Given the description of an element on the screen output the (x, y) to click on. 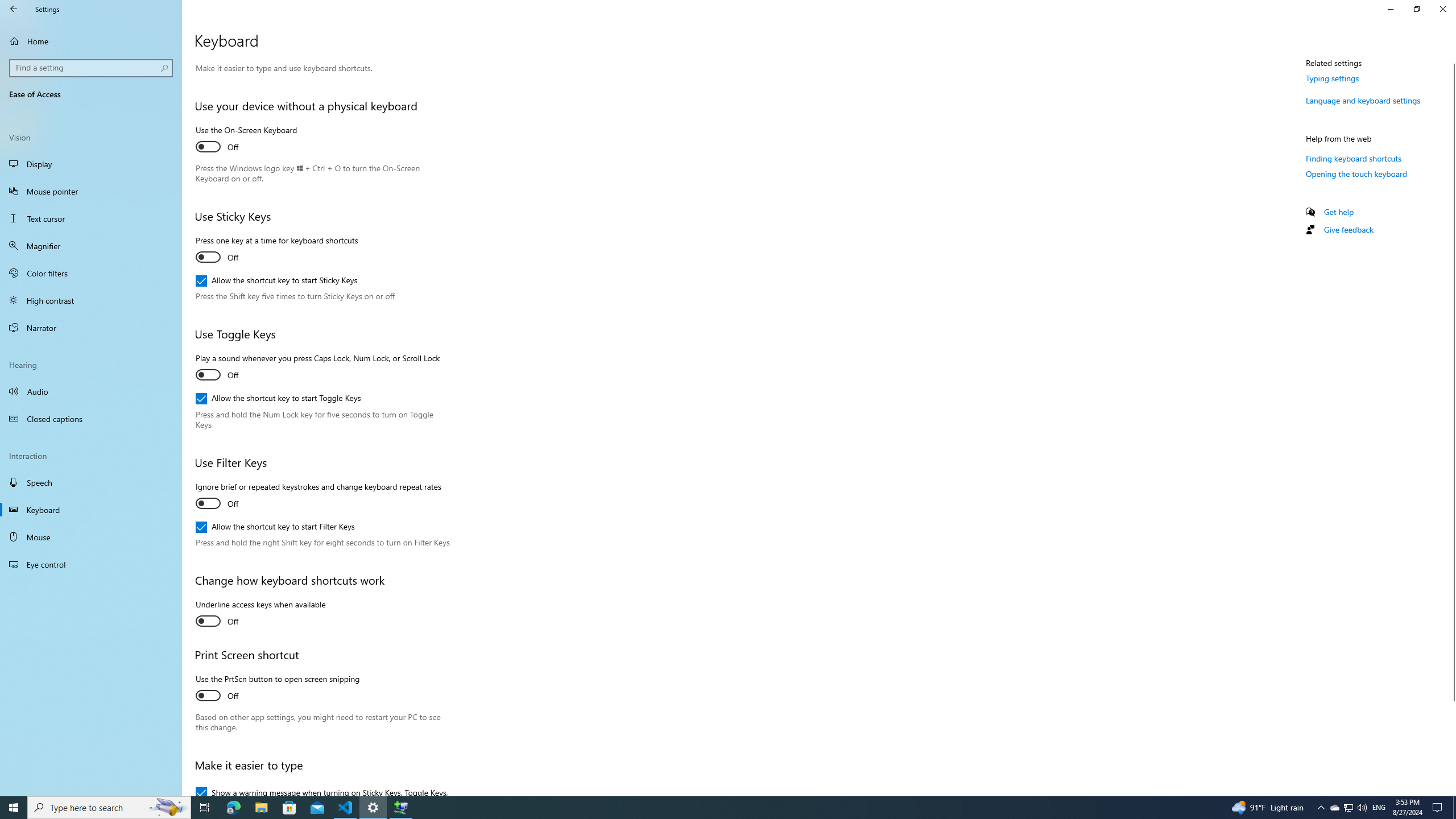
Start (13, 807)
Mouse pointer (91, 190)
Vertical Large Increase (1451, 744)
Give feedback (1348, 229)
Minimize Settings (1390, 9)
Home (91, 40)
Magnifier (91, 245)
Allow the shortcut key to start Filter Keys (275, 527)
Color filters (91, 272)
High contrast (91, 299)
User Promoted Notification Area (1347, 807)
Display (91, 163)
Finding keyboard shortcuts (1354, 158)
